Given the description of an element on the screen output the (x, y) to click on. 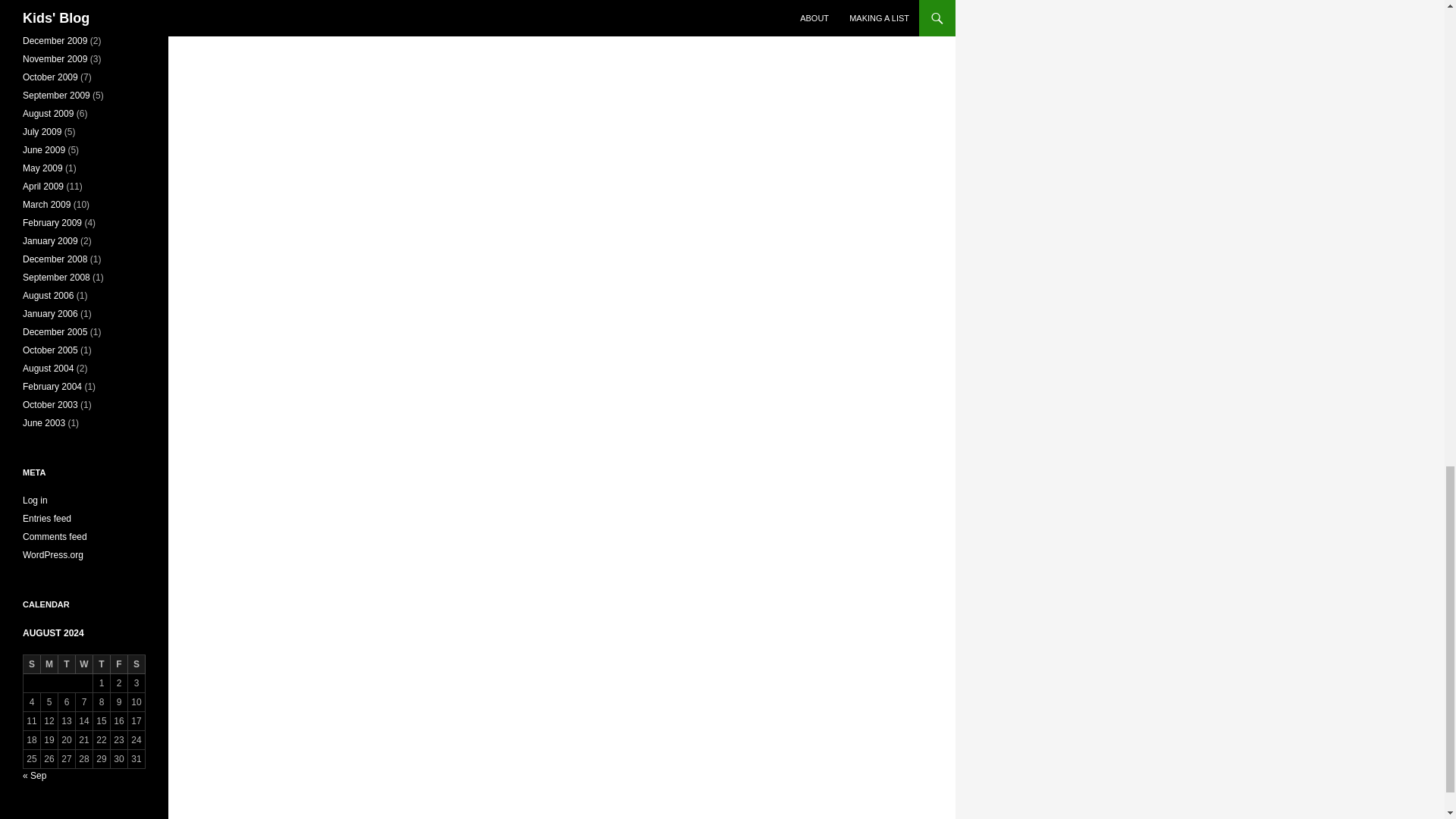
Saturday (136, 664)
Monday (49, 664)
Tuesday (66, 664)
Wednesday (84, 664)
Thursday (101, 664)
Friday (119, 664)
Sunday (31, 664)
